Given the description of an element on the screen output the (x, y) to click on. 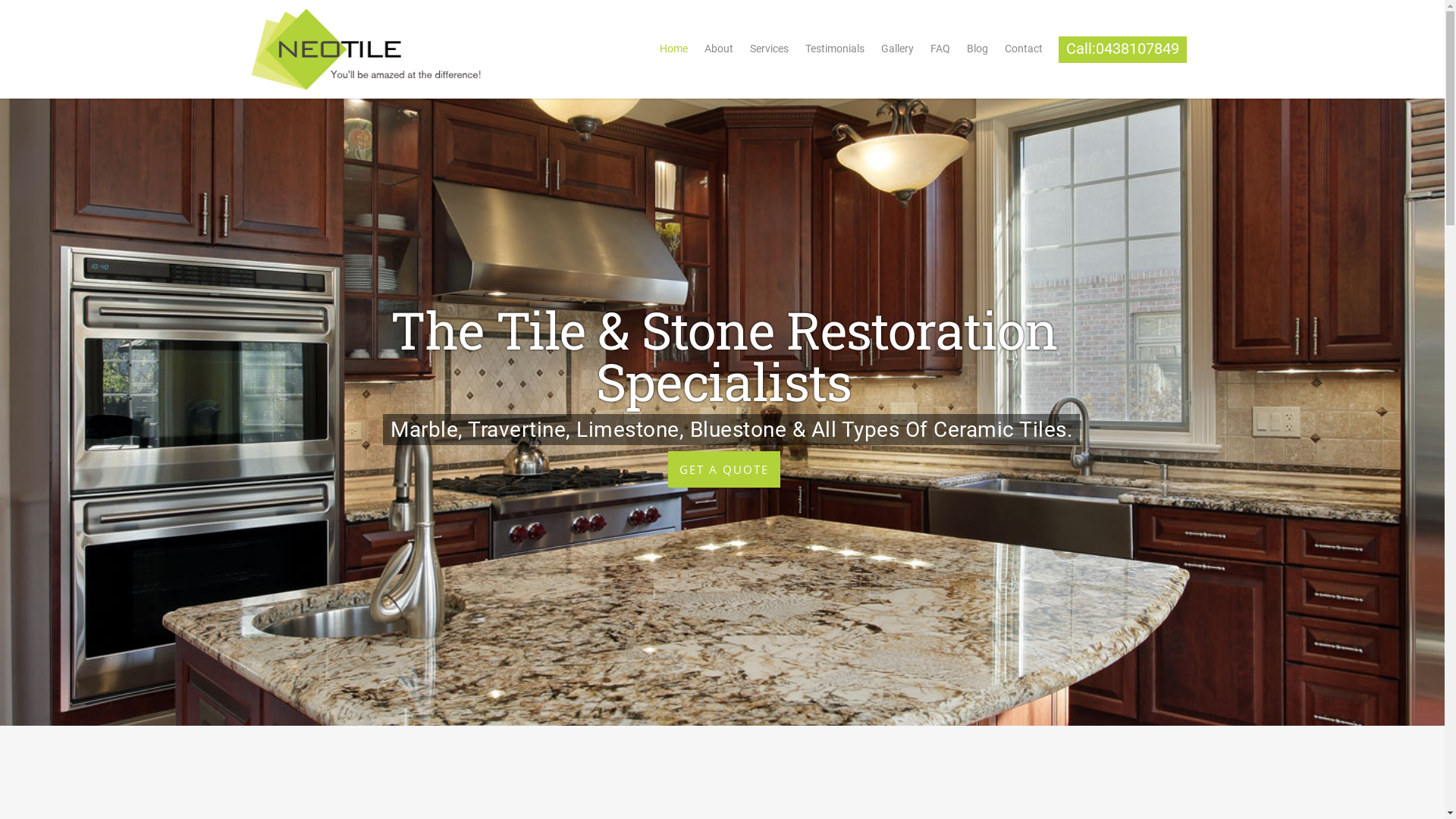
About Element type: text (718, 52)
Gallery Element type: text (897, 52)
Contact Element type: text (1023, 52)
Blog Element type: text (977, 52)
FAQ Element type: text (939, 52)
Testimonials Element type: text (834, 52)
Call:0438107849 Element type: text (1122, 52)
GET A QUOTE Element type: text (723, 468)
Services Element type: text (769, 52)
Home Element type: text (673, 52)
